Given the description of an element on the screen output the (x, y) to click on. 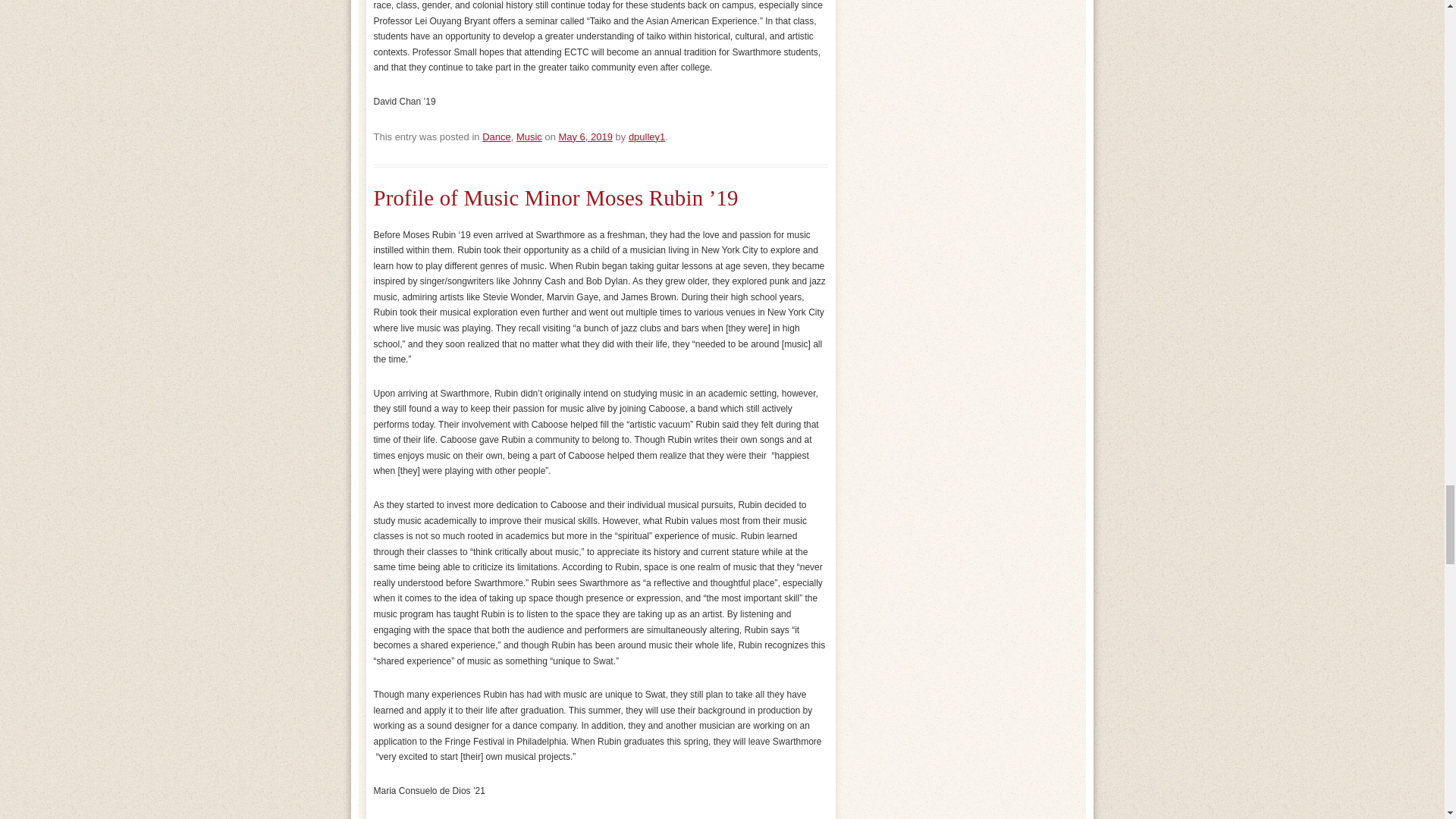
Dance (496, 136)
May 6, 2019 (584, 136)
11:54 am (584, 136)
dpulley1 (646, 136)
Music (528, 136)
View all posts by dpulley1 (646, 136)
